Given the description of an element on the screen output the (x, y) to click on. 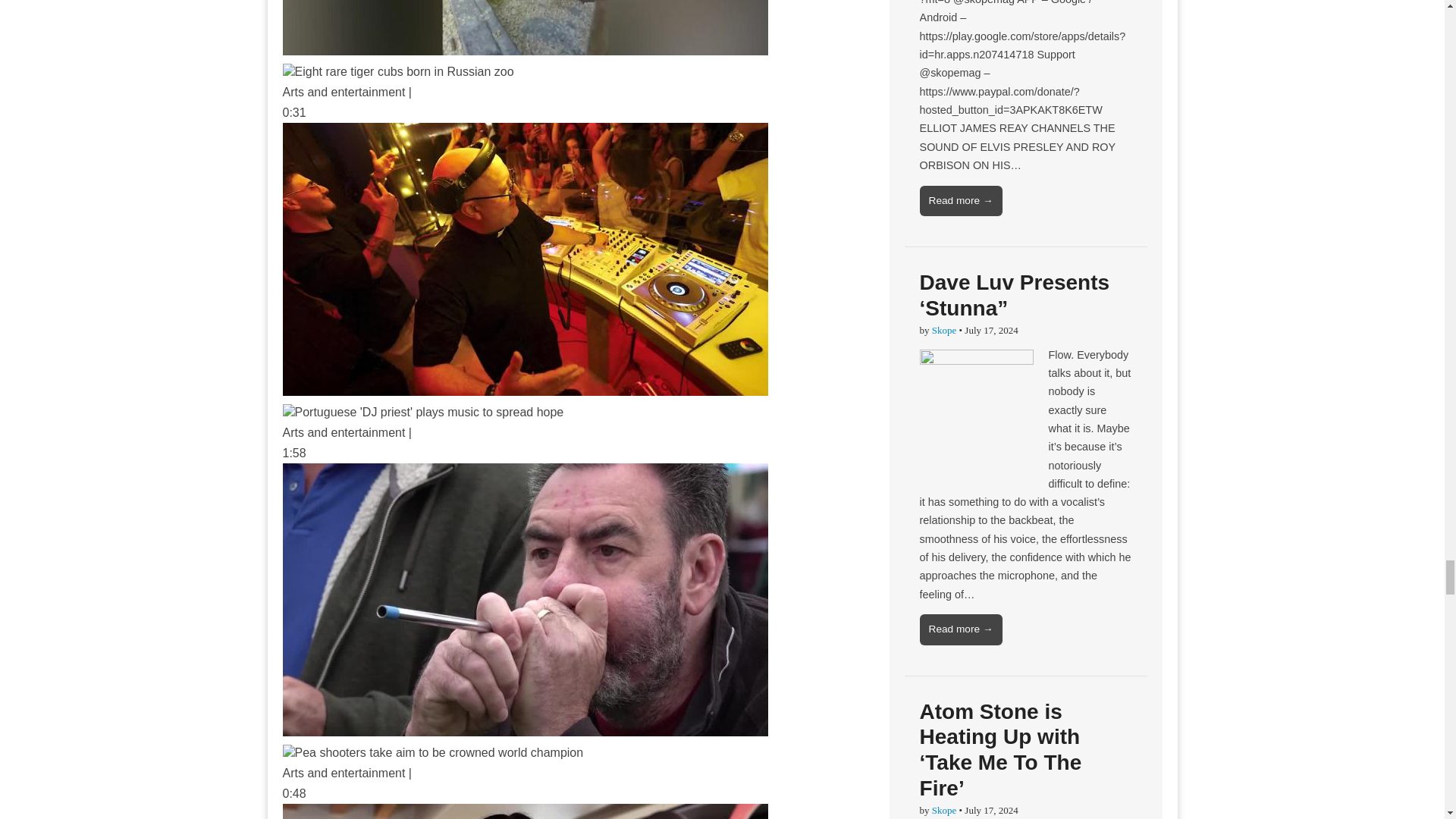
Posts by Skope (943, 329)
